Given the description of an element on the screen output the (x, y) to click on. 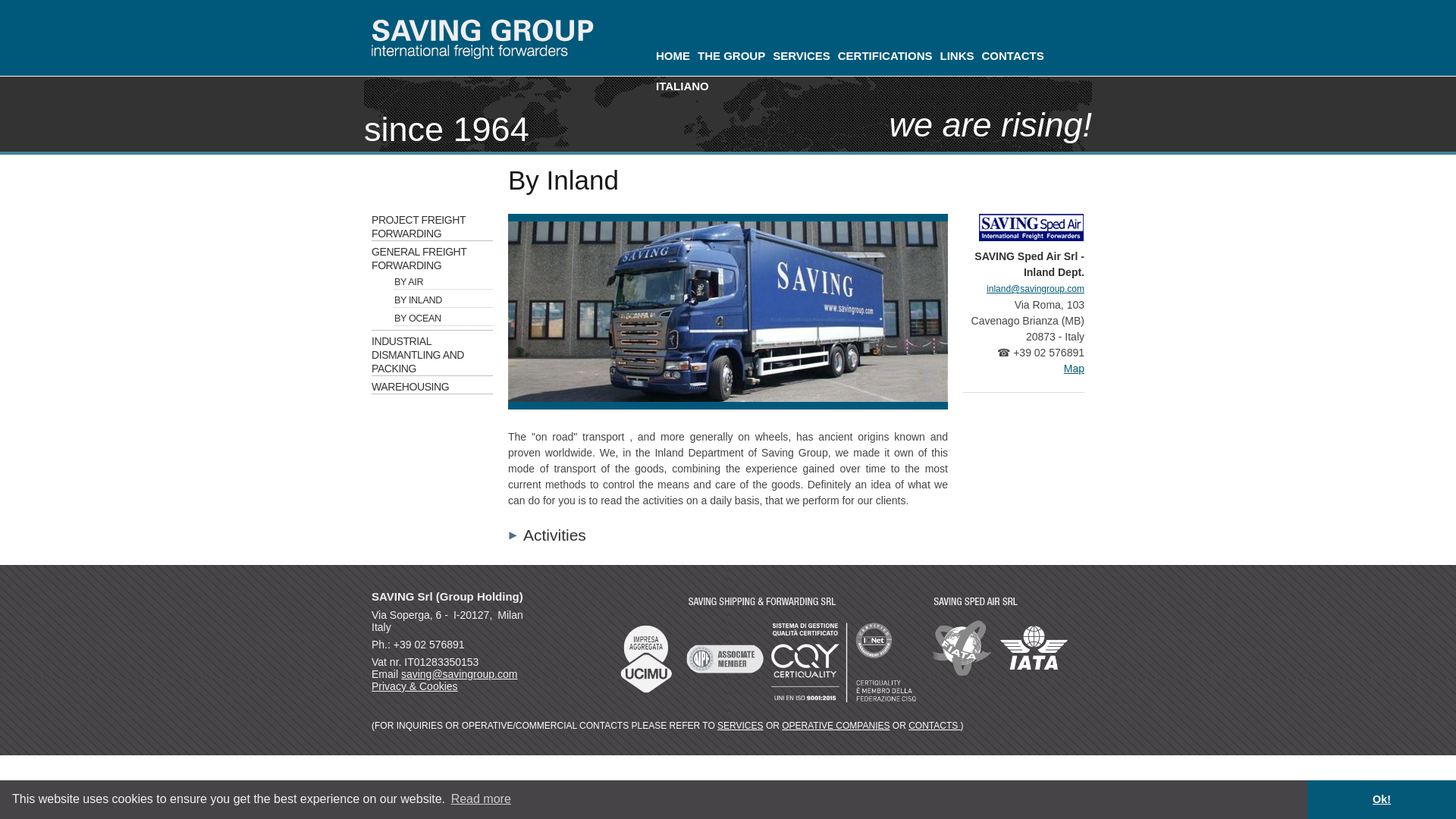
ITALIANO (682, 86)
THE GROUP (731, 55)
BY AIR (443, 282)
Saving Group International Freight Forwarders (499, 41)
LINKS (956, 55)
HOME (673, 55)
Map (1074, 368)
SERVICES (801, 55)
OPERATIVE COMPANIES (835, 725)
PROJECT FREIGHT FORWARDING (432, 226)
CERTIFICATIONS (885, 55)
Activities (547, 534)
BY INLAND (443, 300)
BY OCEAN (443, 318)
WAREHOUSING (432, 386)
